Given the description of an element on the screen output the (x, y) to click on. 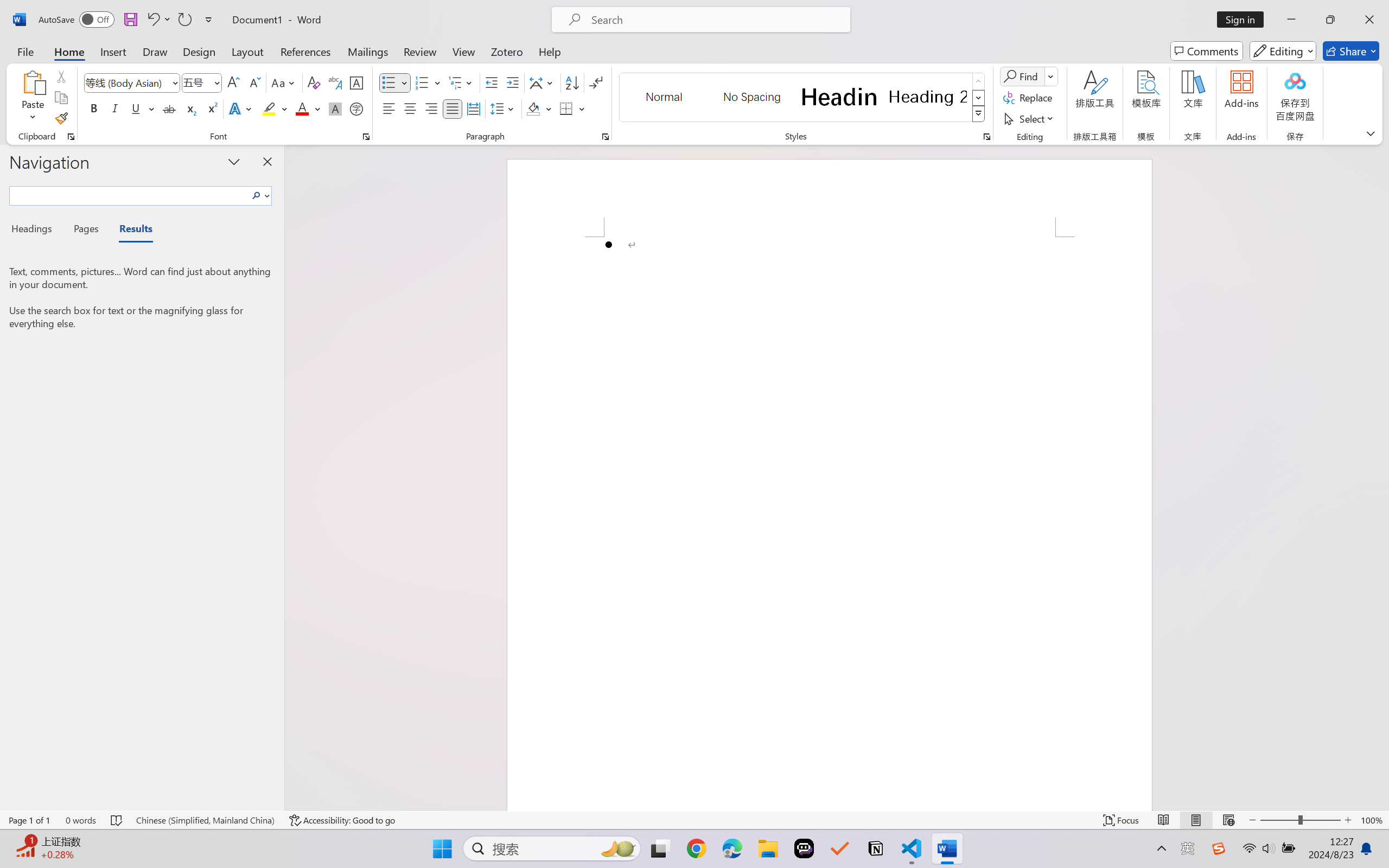
Sign in (1244, 19)
